Given the description of an element on the screen output the (x, y) to click on. 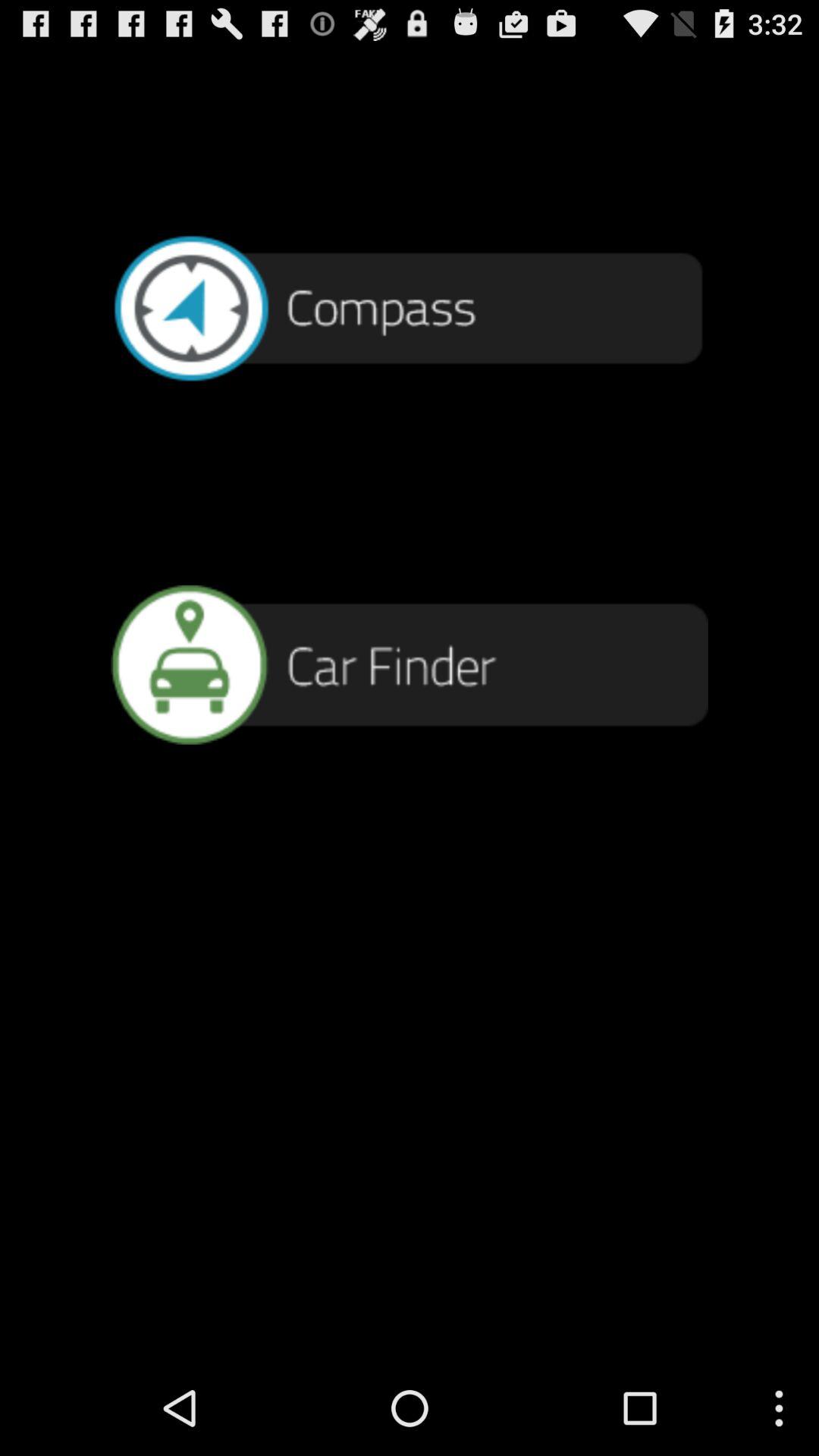
go to compass (409, 306)
